Given the description of an element on the screen output the (x, y) to click on. 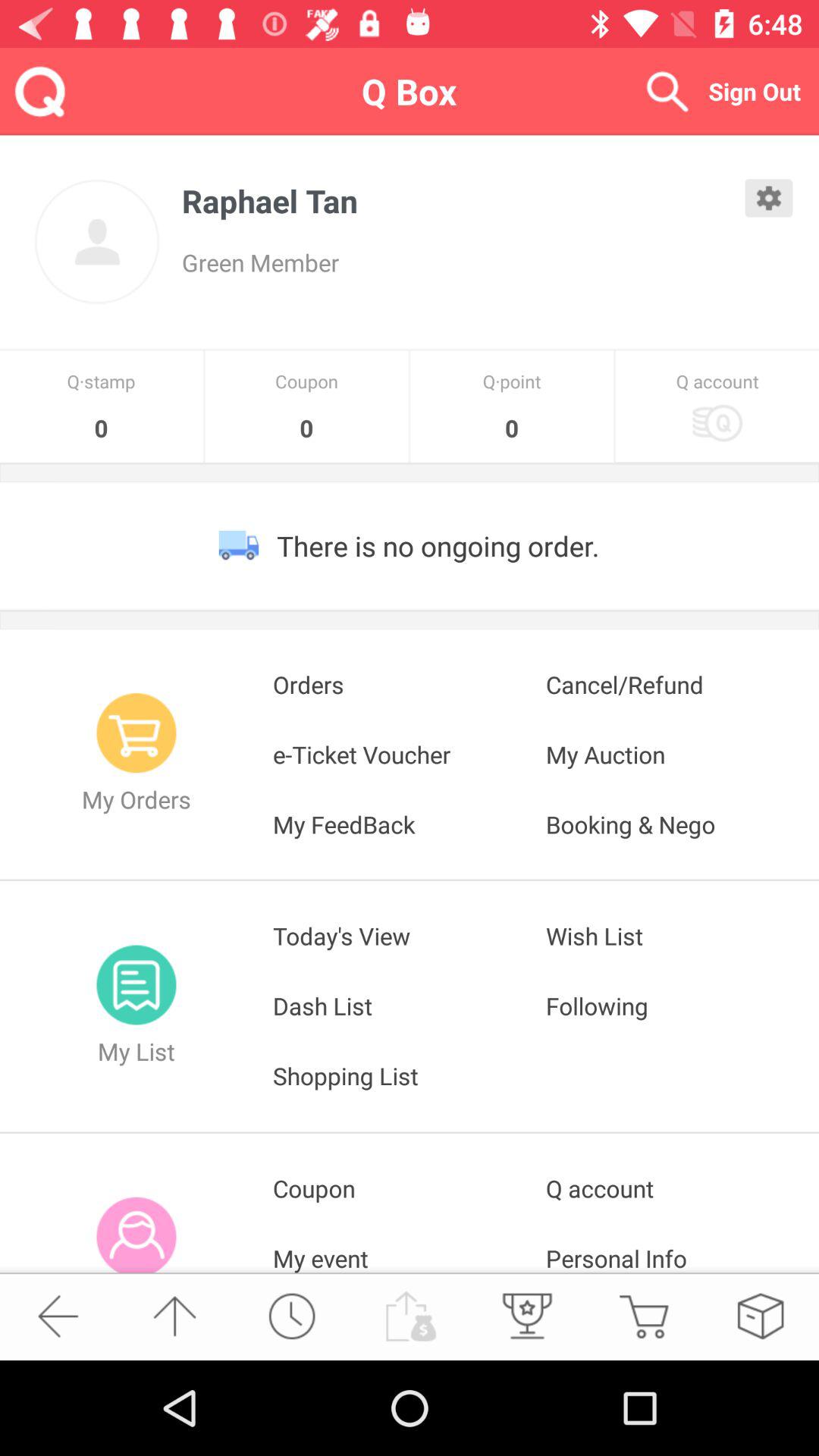
it is a search button (666, 91)
